Given the description of an element on the screen output the (x, y) to click on. 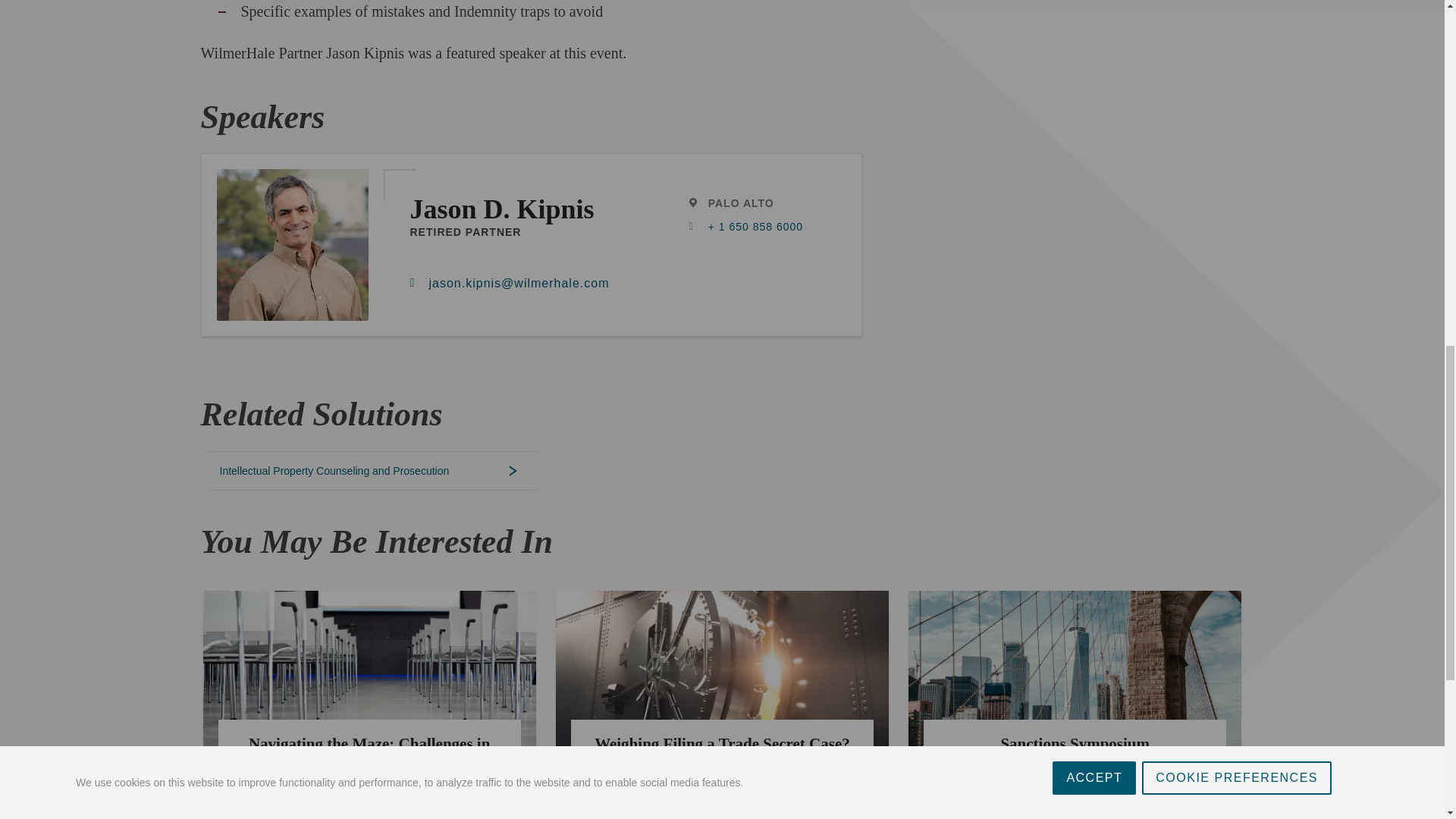
COOKIE PREFERENCES (1236, 9)
ACCEPT (1093, 21)
Jason D. Kipnis (501, 209)
PALO ALTO (740, 203)
